Given the description of an element on the screen output the (x, y) to click on. 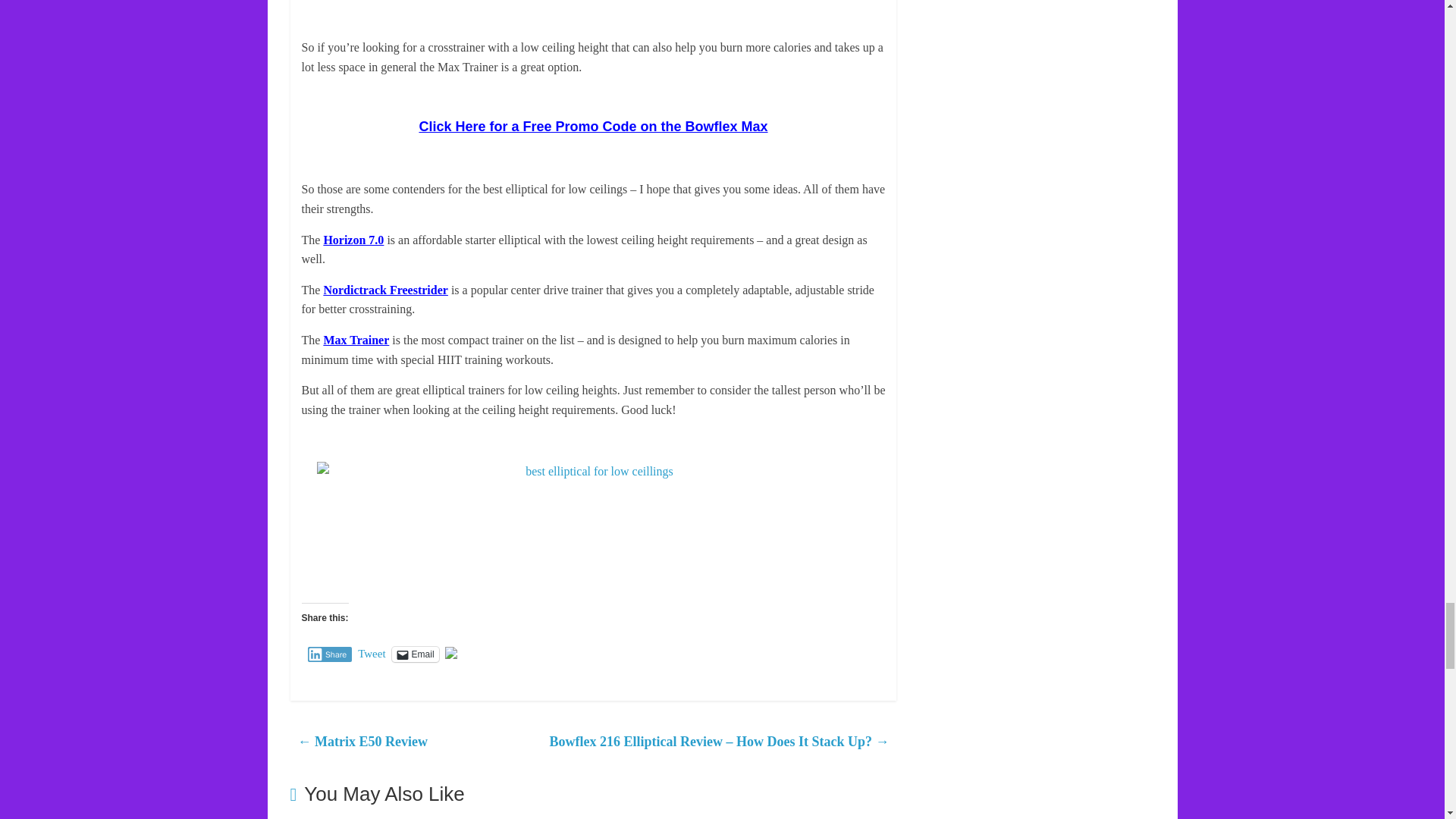
Click to email a link to a friend (415, 654)
